Given the description of an element on the screen output the (x, y) to click on. 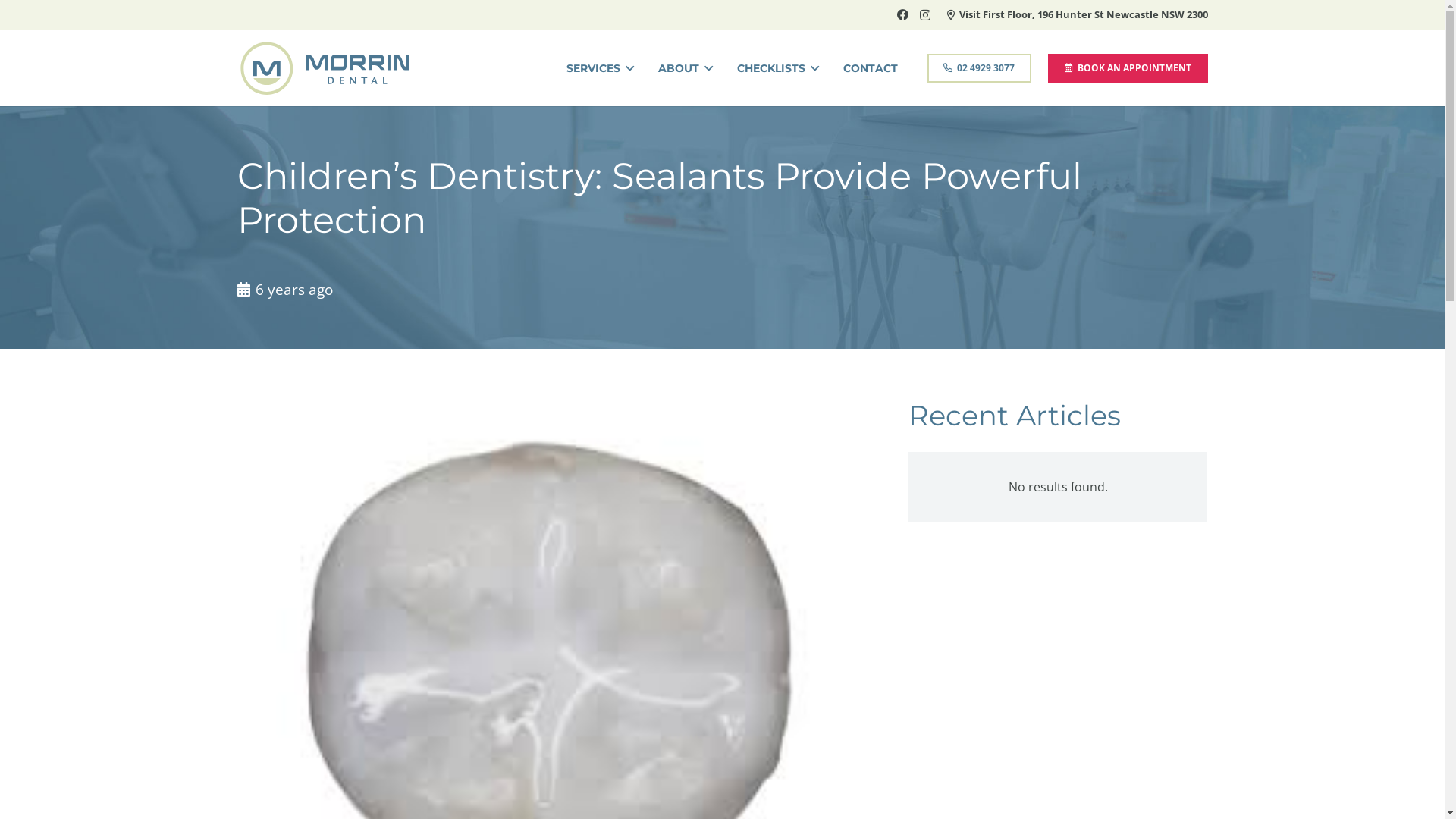
CHECKLISTS Element type: text (777, 68)
Instagram Element type: hover (924, 15)
SERVICES Element type: text (600, 68)
Facebook Element type: hover (902, 14)
02 4929 3077 Element type: text (979, 67)
Visit First Floor, 196 Hunter St Newcastle NSW 2300 Element type: text (1077, 14)
ABOUT Element type: text (685, 68)
BOOK AN APPOINTMENT Element type: text (1127, 67)
CONTACT Element type: text (870, 68)
